Given the description of an element on the screen output the (x, y) to click on. 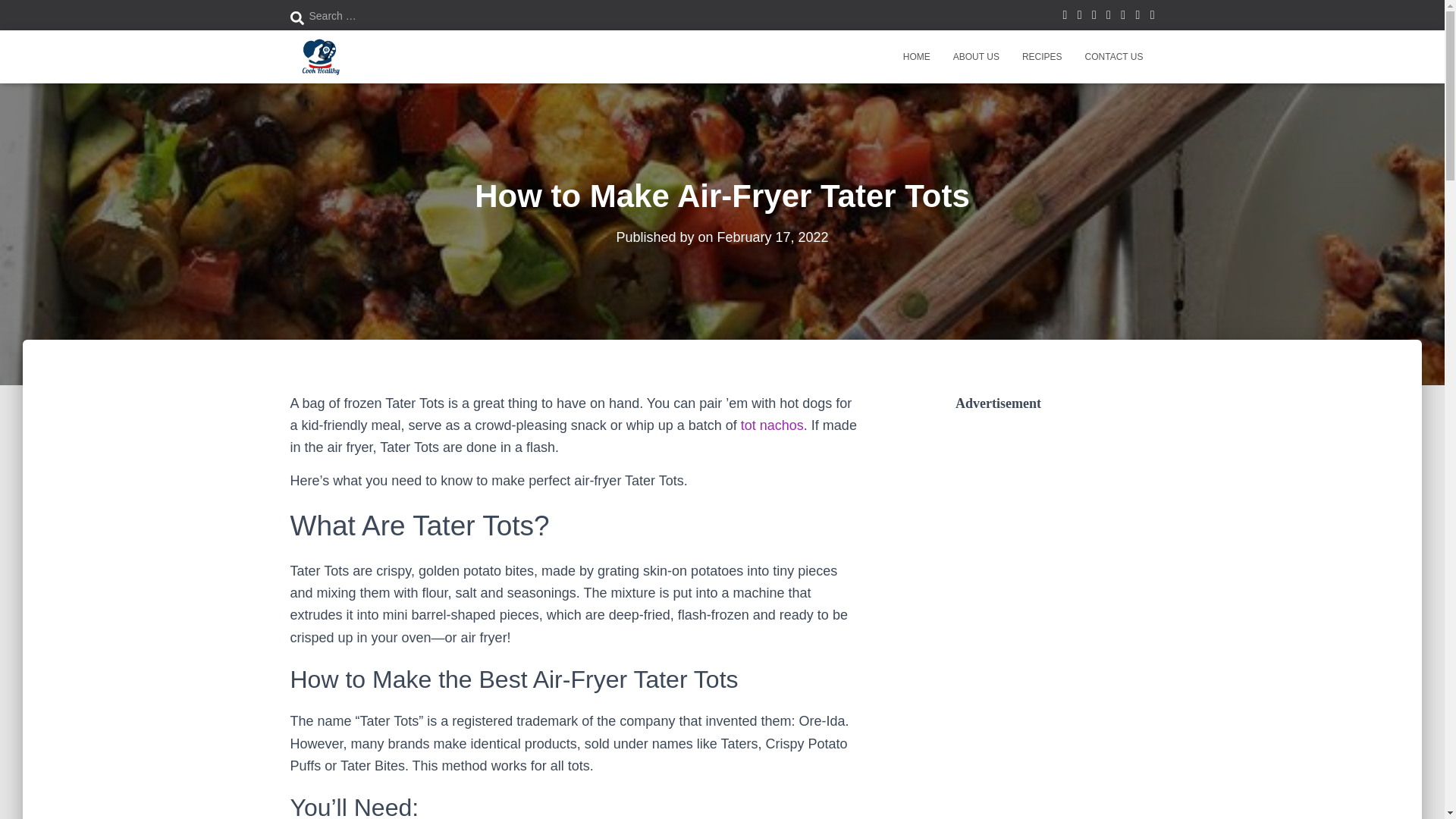
Contact Us (1114, 56)
Recipes (1042, 56)
CONTACT US (1114, 56)
tot nachos (772, 425)
Cook Healthy (318, 56)
HOME (916, 56)
About Us (976, 56)
ABOUT US (976, 56)
RECIPES (1042, 56)
Advertisement (1068, 742)
